Given the description of an element on the screen output the (x, y) to click on. 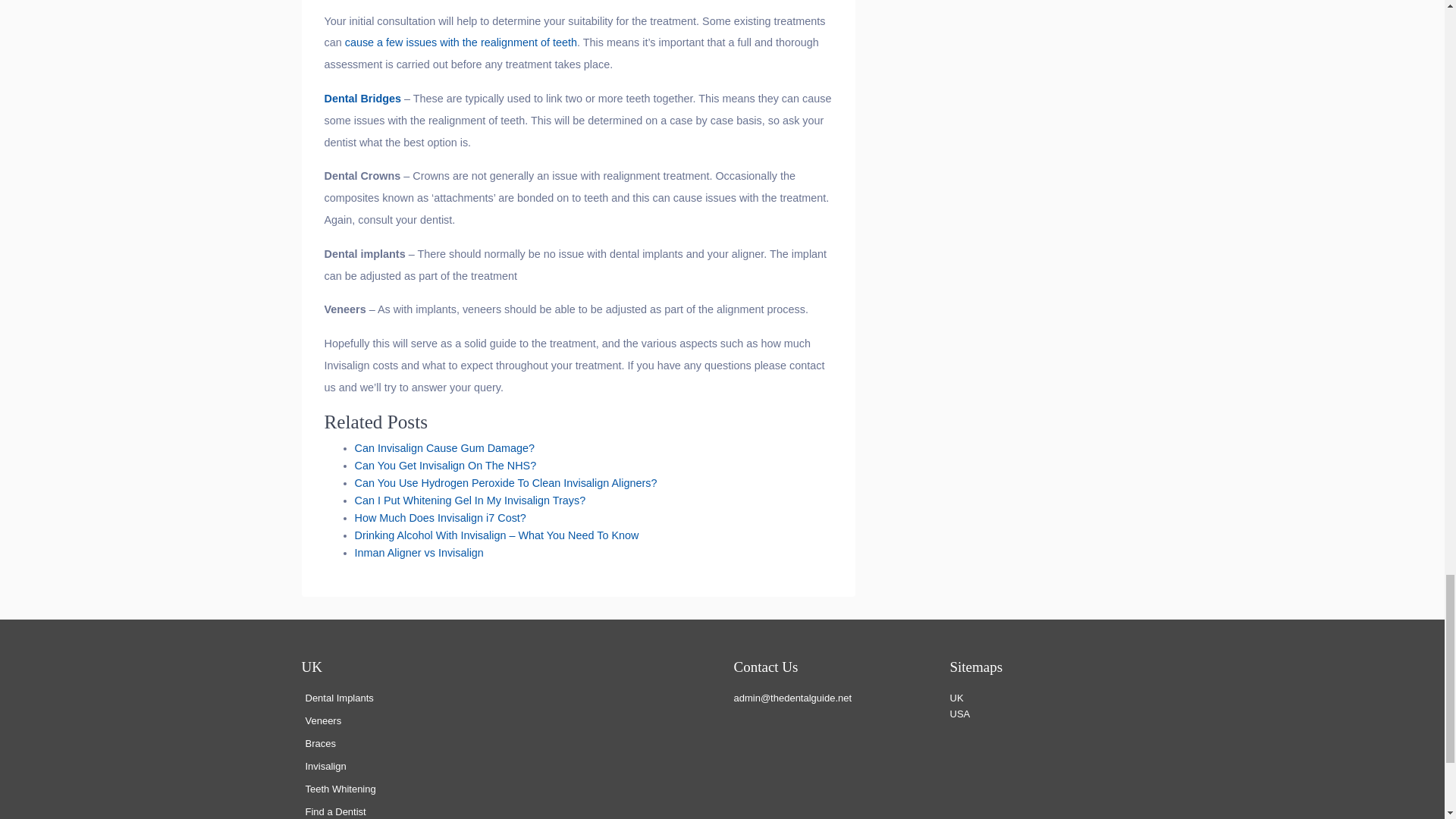
How Much Does Invisalign i7 Cost? (440, 517)
Veneers (322, 720)
Can You Use Hydrogen Peroxide To Clean Invisalign Aligners? (506, 482)
Inman Aligner vs Invisalign (419, 552)
Teeth Whitening (339, 788)
Find a Dentist (334, 811)
Can I Put Whitening Gel In My Invisalign Trays? (470, 500)
Dental Bridges (362, 98)
cause a few issues with the realignment of teeth (460, 42)
Can Invisalign Cause Gum Damage? (445, 448)
